Given the description of an element on the screen output the (x, y) to click on. 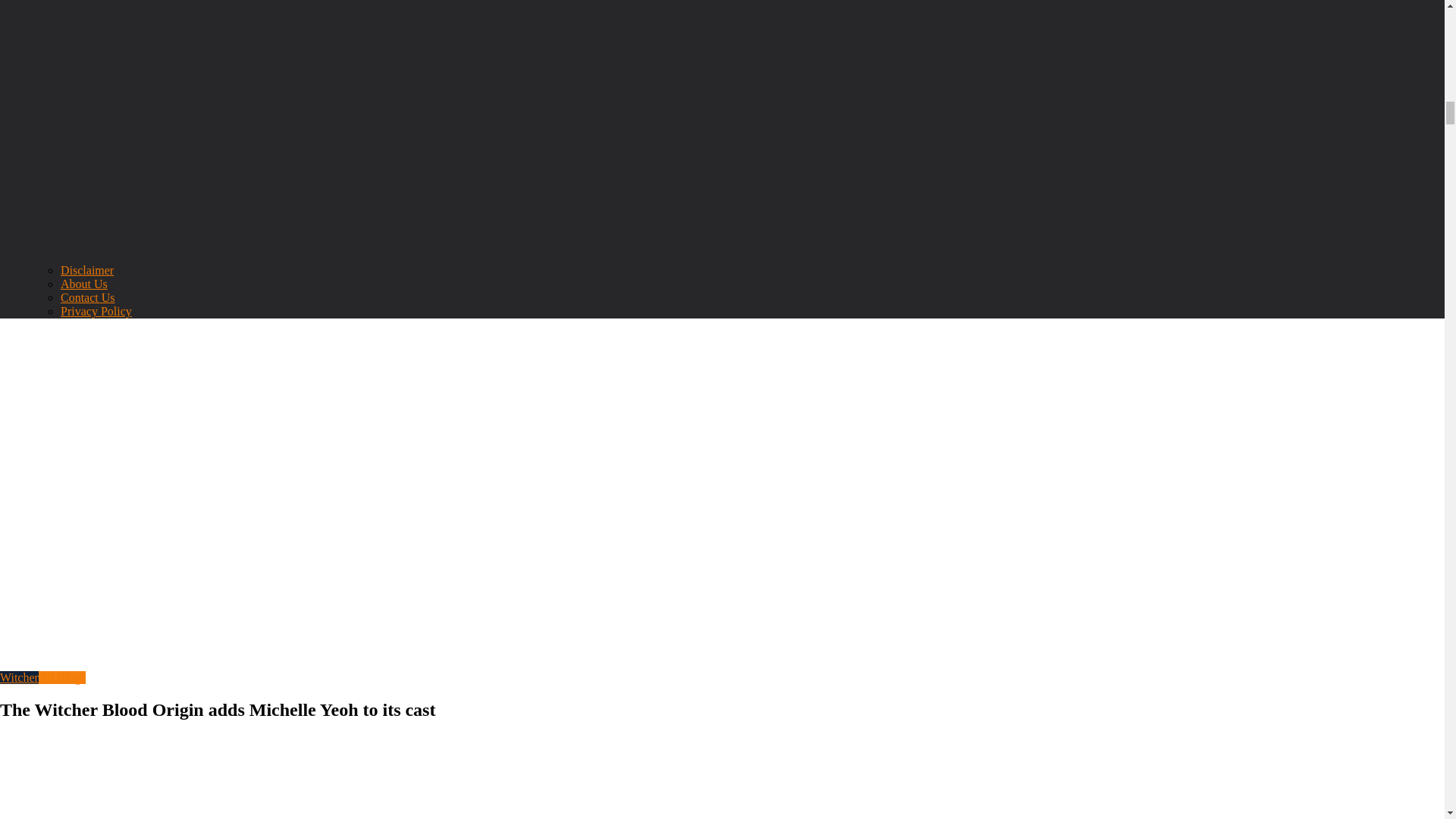
Contact Us (88, 297)
Disclaimer (87, 269)
Privacy Policy (96, 310)
All Blogs (62, 676)
About Us (84, 283)
Witcher (19, 676)
